Given the description of an element on the screen output the (x, y) to click on. 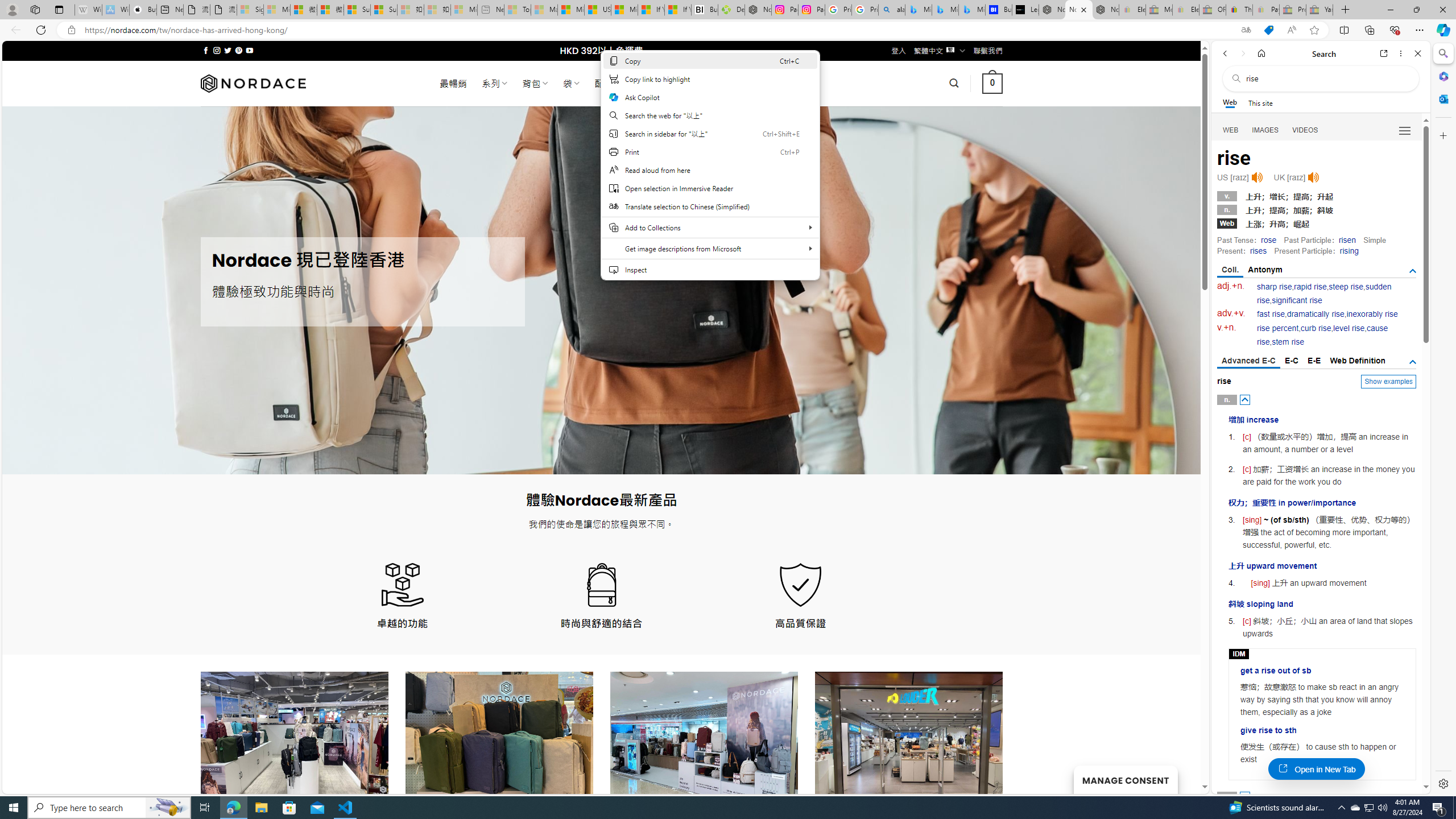
Microsoft Services Agreement - Sleeping (277, 9)
This site scope (1259, 102)
  0   (992, 83)
Press Room - eBay Inc. - Sleeping (1292, 9)
Yard, Garden & Outdoor Living - Sleeping (1319, 9)
